Given the description of an element on the screen output the (x, y) to click on. 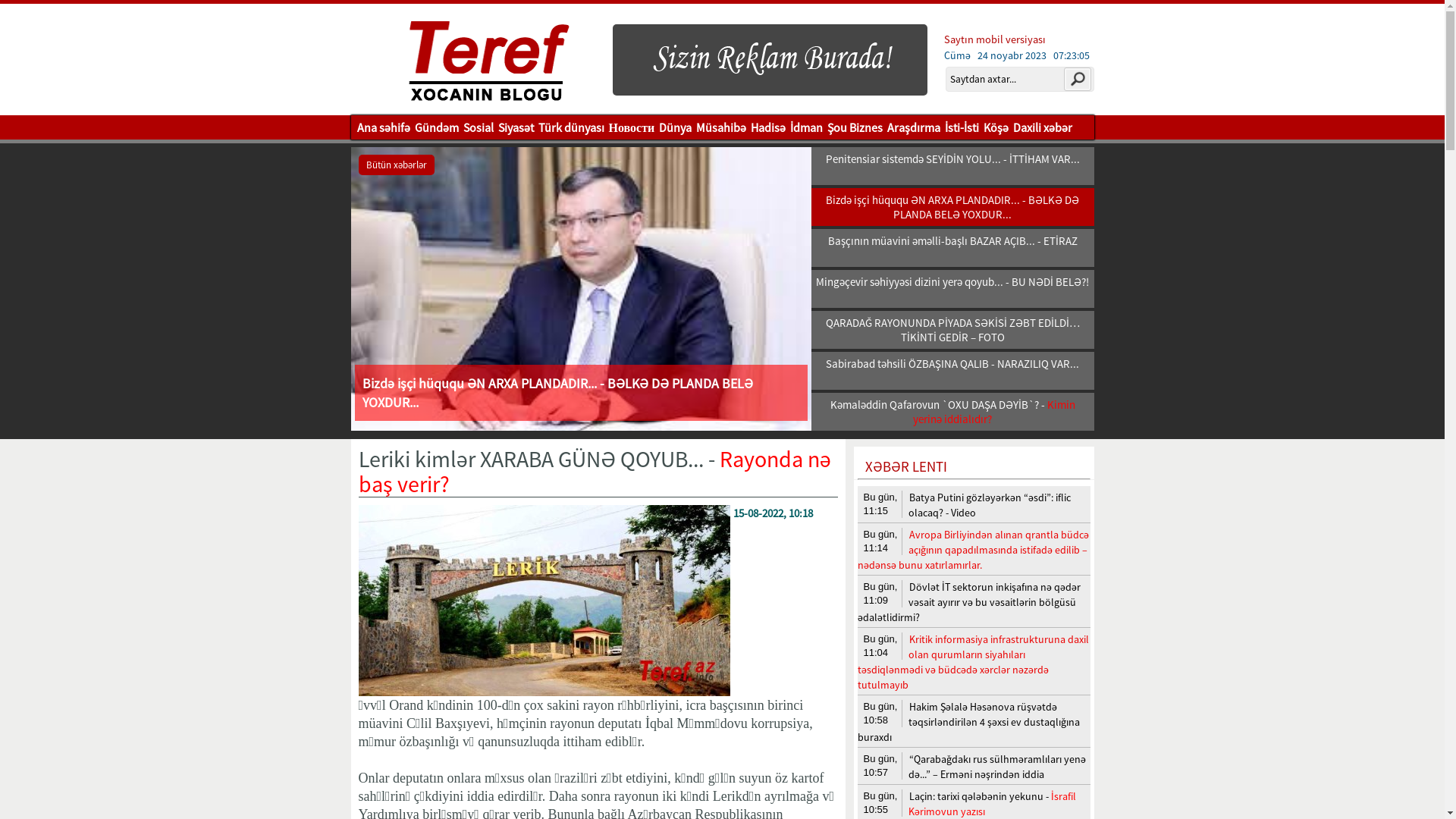
Sosial Element type: text (478, 127)
